Given the description of an element on the screen output the (x, y) to click on. 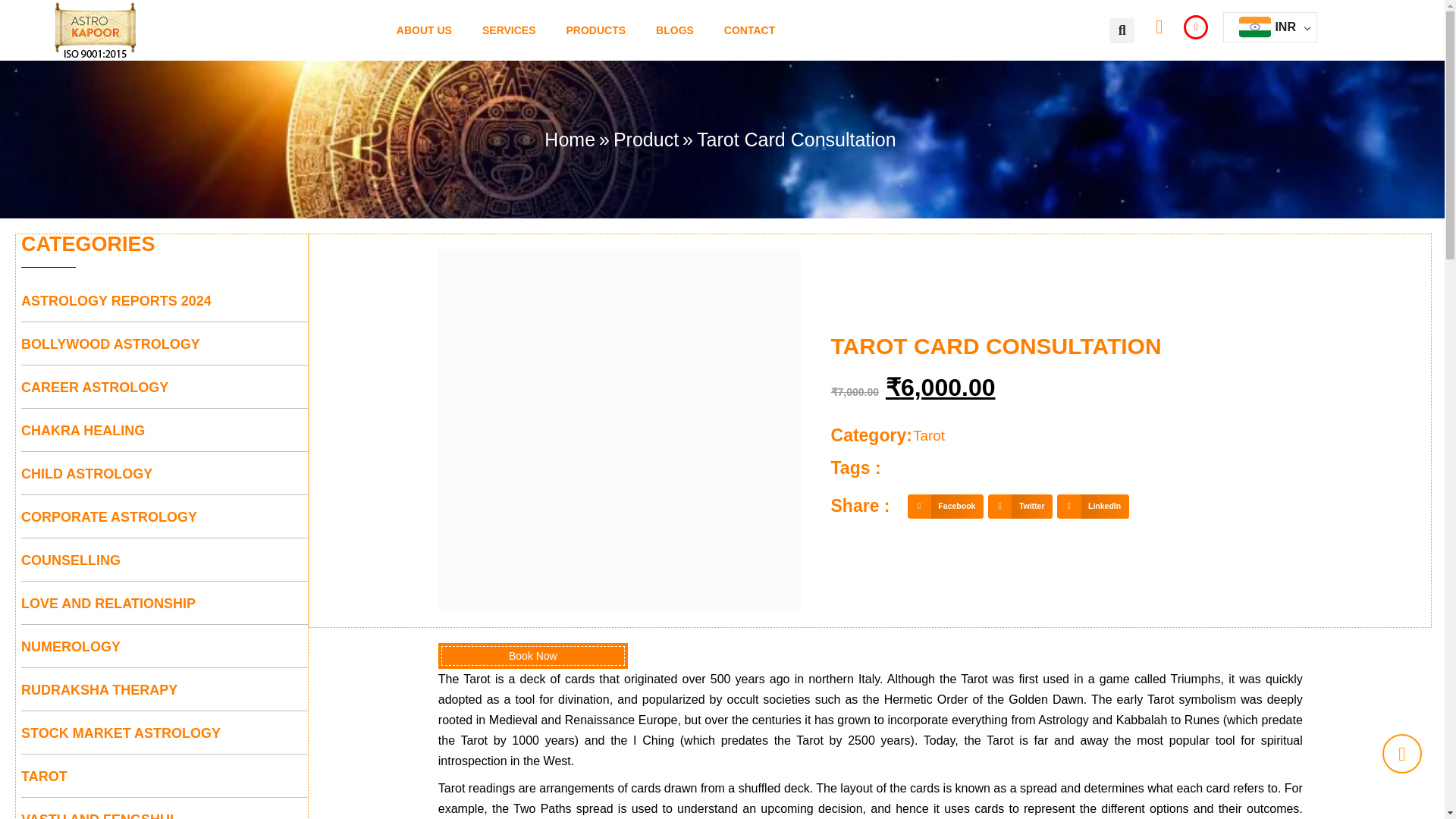
SERVICES (509, 30)
ABOUT US (424, 30)
Tarot Card Consultation Image (619, 430)
